Given the description of an element on the screen output the (x, y) to click on. 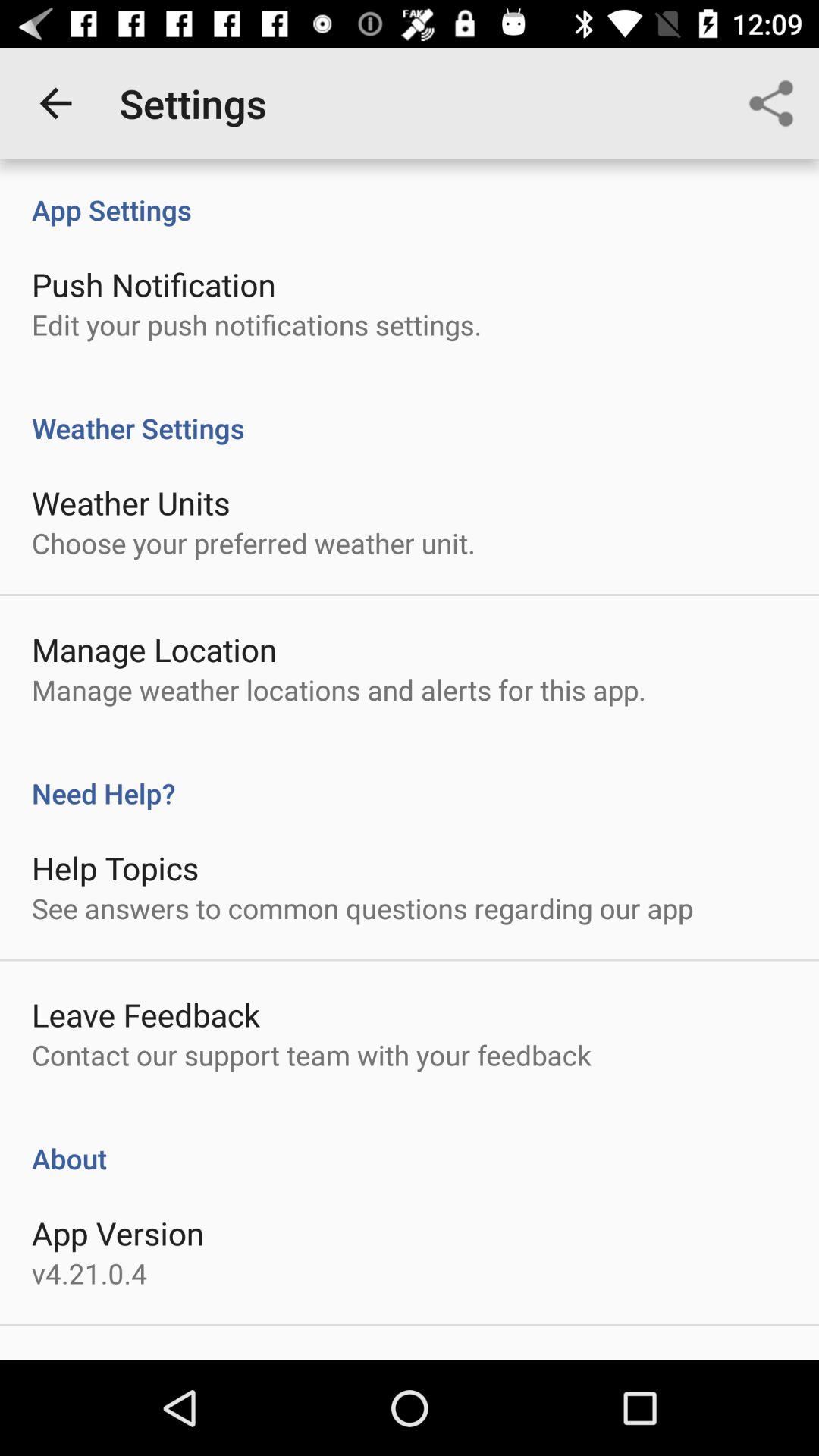
click item next to settings  icon (771, 103)
